Given the description of an element on the screen output the (x, y) to click on. 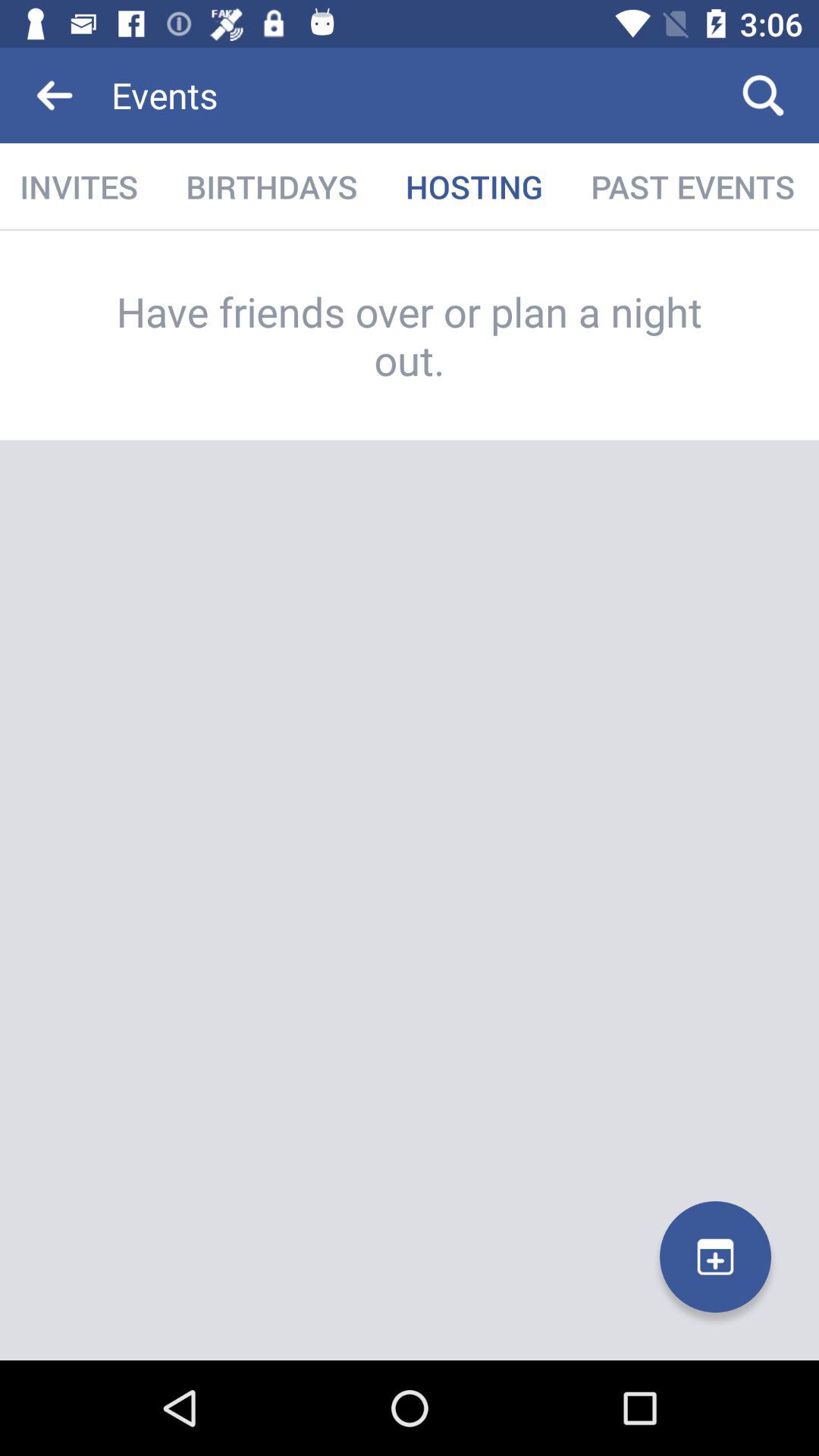
select icon to the right of hosting icon (693, 186)
